Given the description of an element on the screen output the (x, y) to click on. 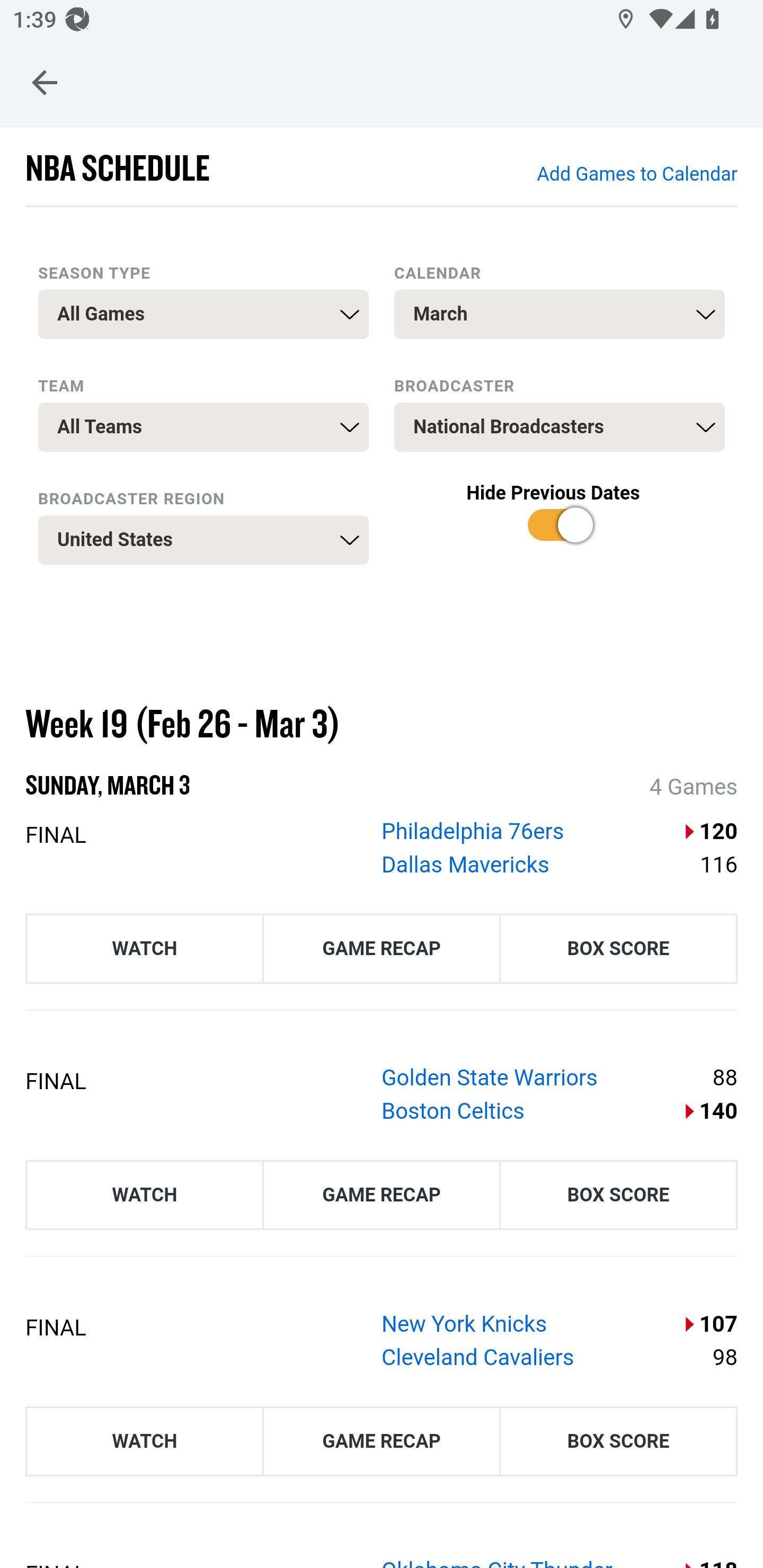
Navigate up (44, 82)
Add Games to Calendar (636, 174)
All Games (203, 314)
March (559, 314)
All Teams (203, 427)
National Broadcasters (559, 427)
United States (203, 540)
Philadelphia 76ers (472, 830)
Dallas Mavericks (465, 863)
WATCH (144, 947)
GAME RECAP (381, 947)
BOX SCORE (618, 947)
Golden State Warriors (489, 1076)
Boston Celtics (452, 1110)
WATCH (144, 1193)
GAME RECAP (381, 1193)
BOX SCORE (618, 1193)
New York Knicks (464, 1323)
Cleveland Cavaliers (478, 1357)
WATCH (144, 1440)
GAME RECAP (381, 1440)
BOX SCORE (618, 1440)
